Given the description of an element on the screen output the (x, y) to click on. 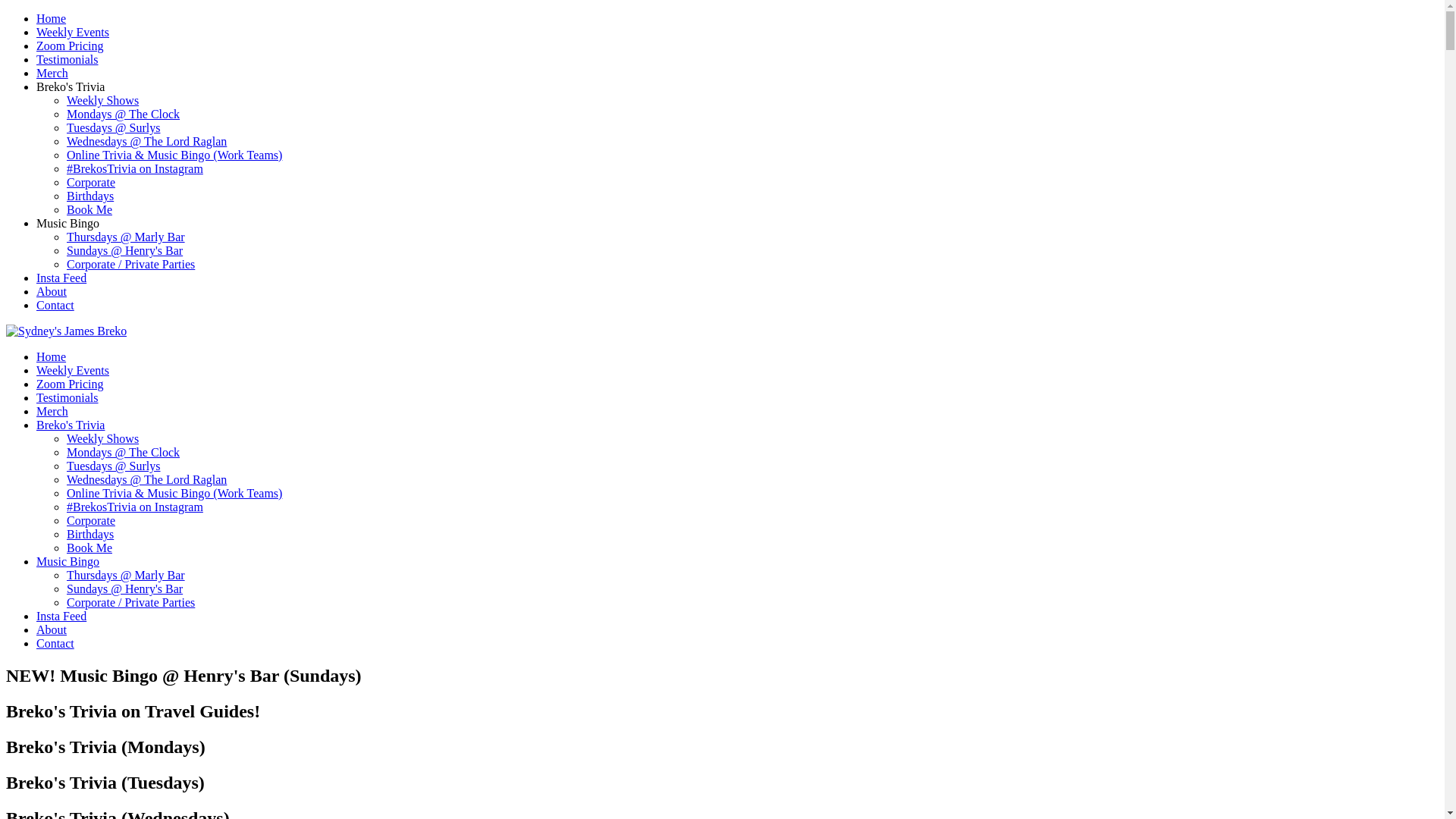
Sundays @ Henry's Bar Element type: text (124, 250)
Music Bingo Element type: text (67, 561)
Breko's Trivia Element type: text (70, 424)
Mondays @ The Clock Element type: text (122, 113)
Testimonials Element type: text (67, 397)
Birthdays Element type: text (89, 533)
Weekly Events Element type: text (72, 370)
Mondays @ The Clock Element type: text (122, 451)
Merch Element type: text (52, 410)
#BrekosTrivia on Instagram Element type: text (134, 506)
About Element type: text (51, 291)
Corporate / Private Parties Element type: text (130, 263)
Wednesdays @ The Lord Raglan Element type: text (146, 479)
Wednesdays @ The Lord Raglan Element type: text (146, 140)
Tuesdays @ Surlys Element type: text (113, 465)
Zoom Pricing Element type: text (69, 383)
Corporate Element type: text (90, 520)
Merch Element type: text (52, 72)
Tuesdays @ Surlys Element type: text (113, 127)
Birthdays Element type: text (89, 195)
About Element type: text (51, 629)
Insta Feed Element type: text (61, 277)
Corporate Element type: text (90, 181)
Breko's Trivia Element type: text (70, 86)
Online Trivia & Music Bingo (Work Teams) Element type: text (174, 154)
Thursdays @ Marly Bar Element type: text (125, 574)
Weekly Shows Element type: text (102, 100)
Home Element type: text (50, 356)
Contact Element type: text (55, 643)
Weekly Shows Element type: text (102, 438)
Weekly Events Element type: text (72, 31)
Contact Element type: text (55, 304)
#BrekosTrivia on Instagram Element type: text (134, 168)
Testimonials Element type: text (67, 59)
Corporate / Private Parties Element type: text (130, 602)
Book Me Element type: text (89, 547)
Thursdays @ Marly Bar Element type: text (125, 236)
Zoom Pricing Element type: text (69, 45)
Insta Feed Element type: text (61, 615)
Book Me Element type: text (89, 209)
Home Element type: text (50, 18)
Online Trivia & Music Bingo (Work Teams) Element type: text (174, 492)
Music Bingo Element type: text (67, 222)
Sundays @ Henry's Bar Element type: text (124, 588)
